Given the description of an element on the screen output the (x, y) to click on. 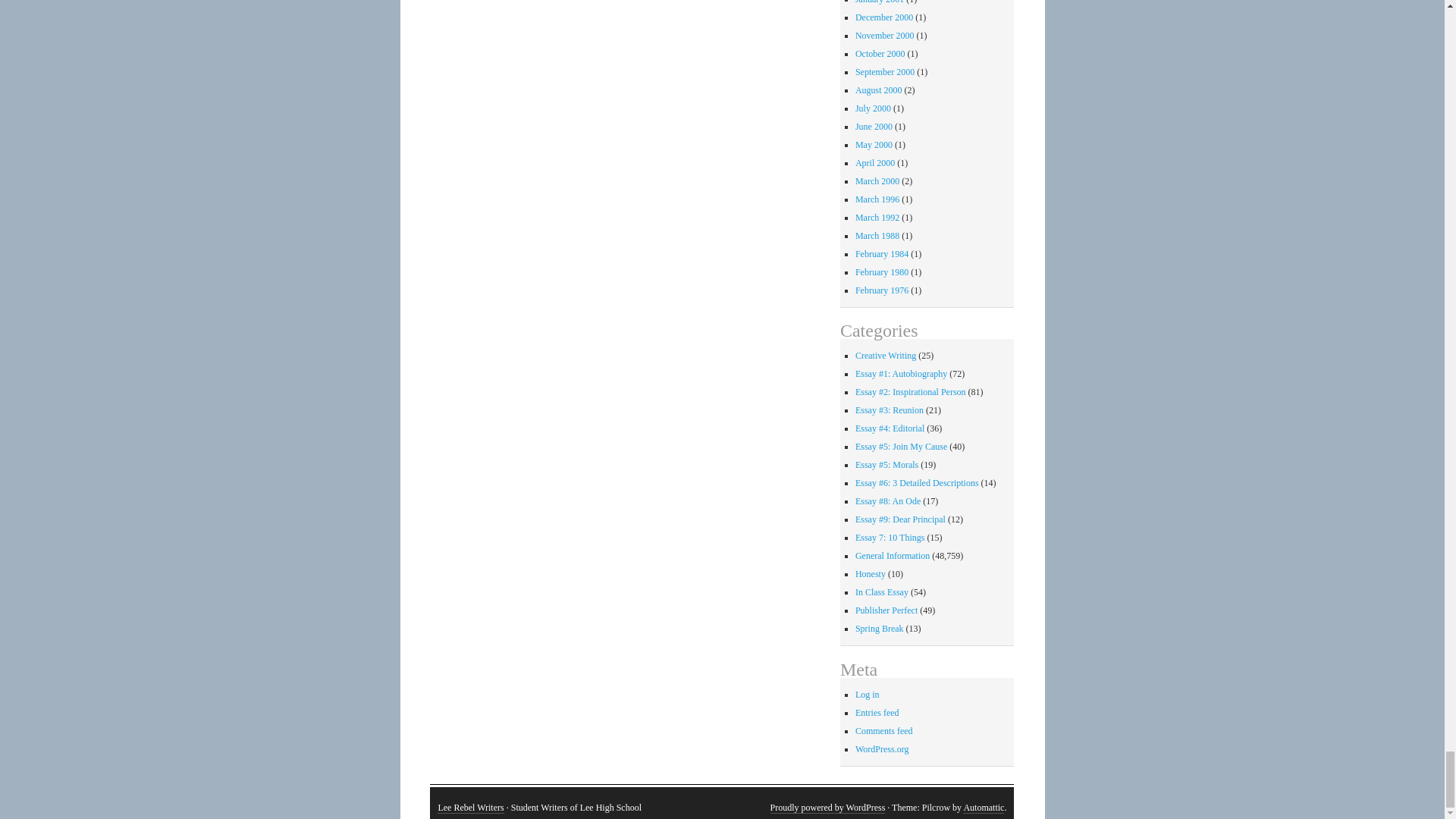
Lee Rebel Writers (470, 808)
